Given the description of an element on the screen output the (x, y) to click on. 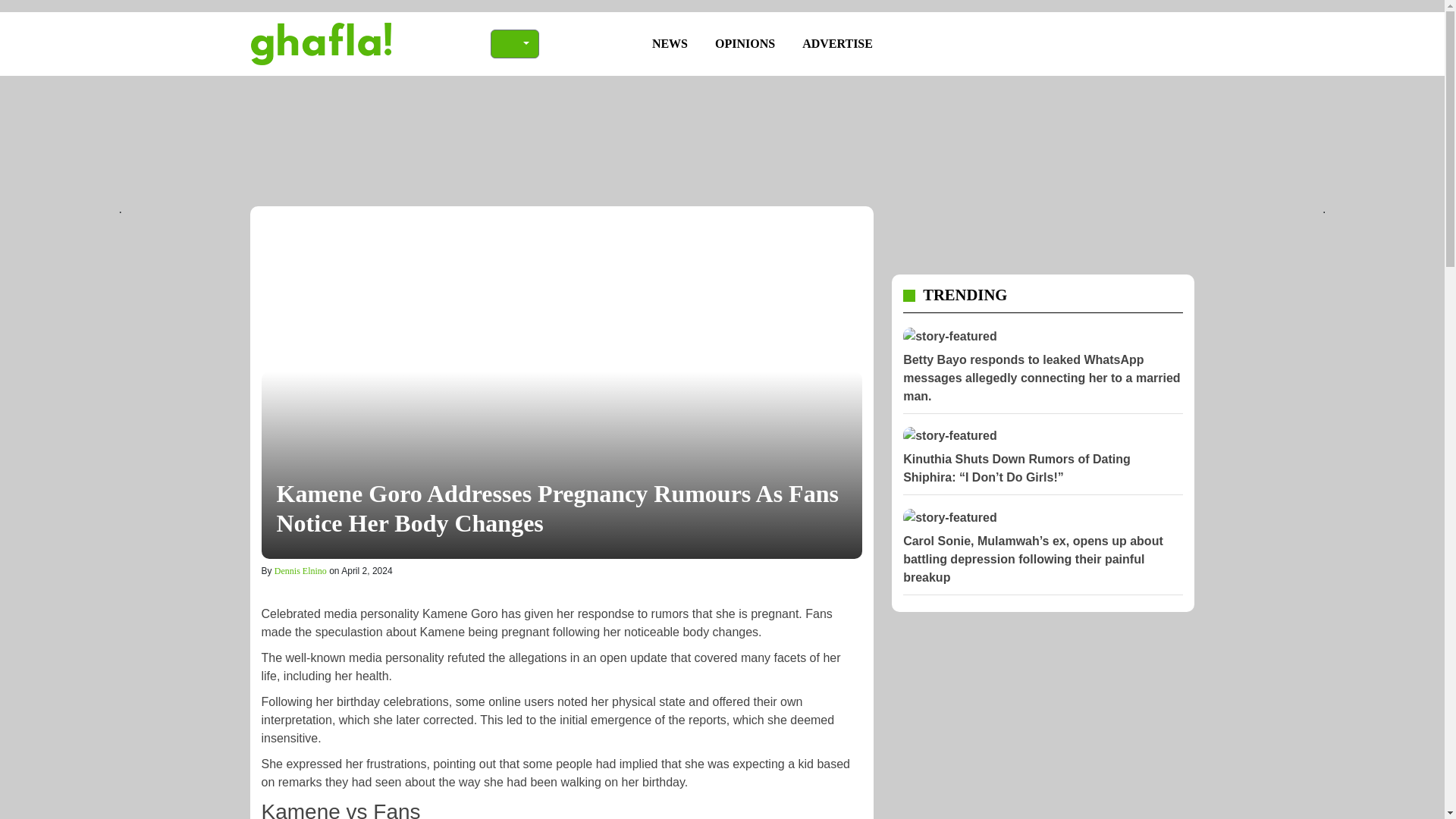
NEWS (670, 43)
Dennis Elnino (300, 570)
OPINIONS (744, 43)
ADVERTISE (837, 43)
